Given the description of an element on the screen output the (x, y) to click on. 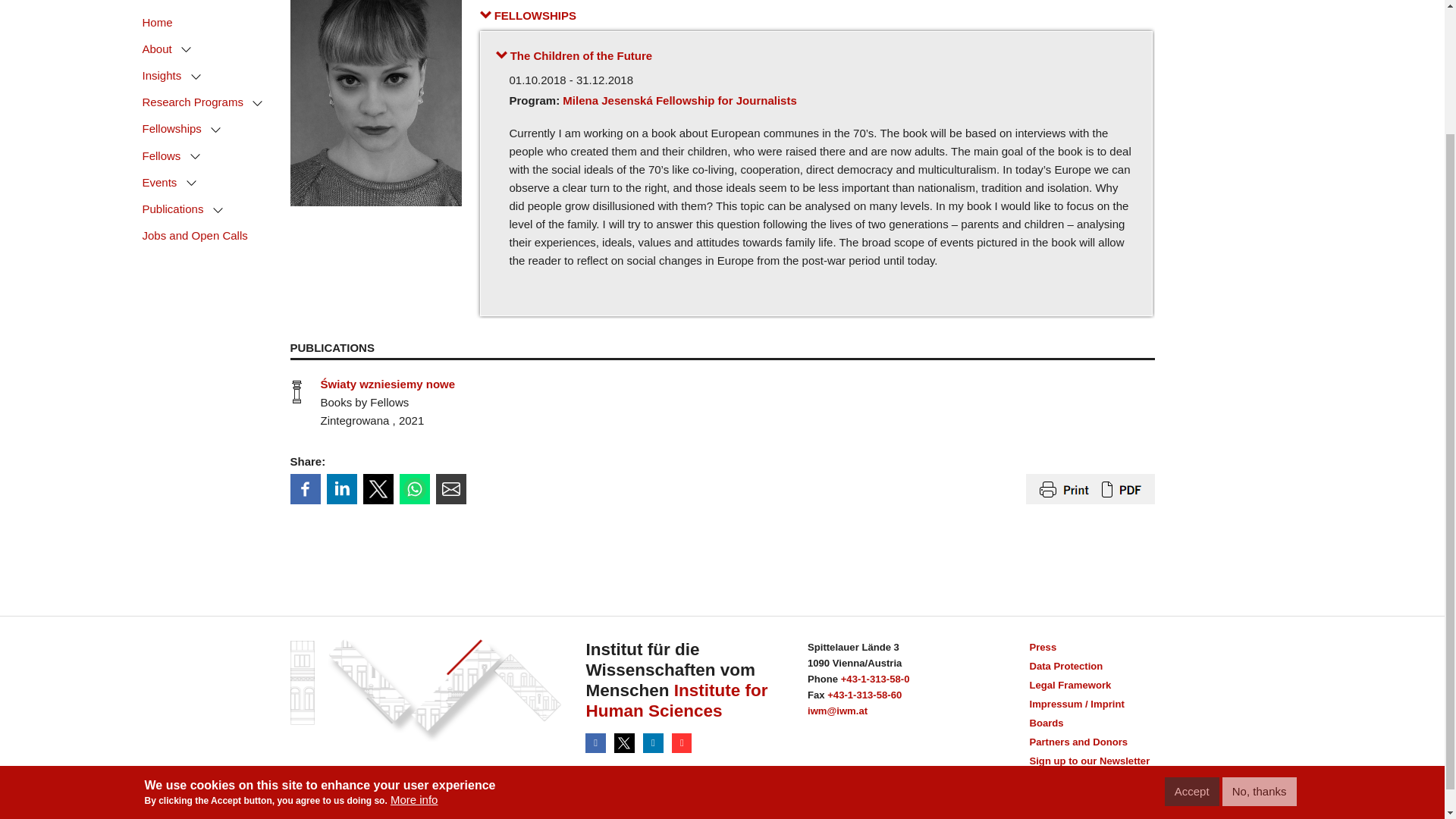
Twitter (625, 742)
Facebook (304, 489)
Fellows (164, 6)
YouTube (682, 742)
Open positions and calls at the IWM (197, 82)
Toggle (195, 6)
Facebook (596, 742)
Twitter (377, 489)
Email (450, 489)
LinkedIn (654, 742)
Linkedin (341, 489)
